Given the description of an element on the screen output the (x, y) to click on. 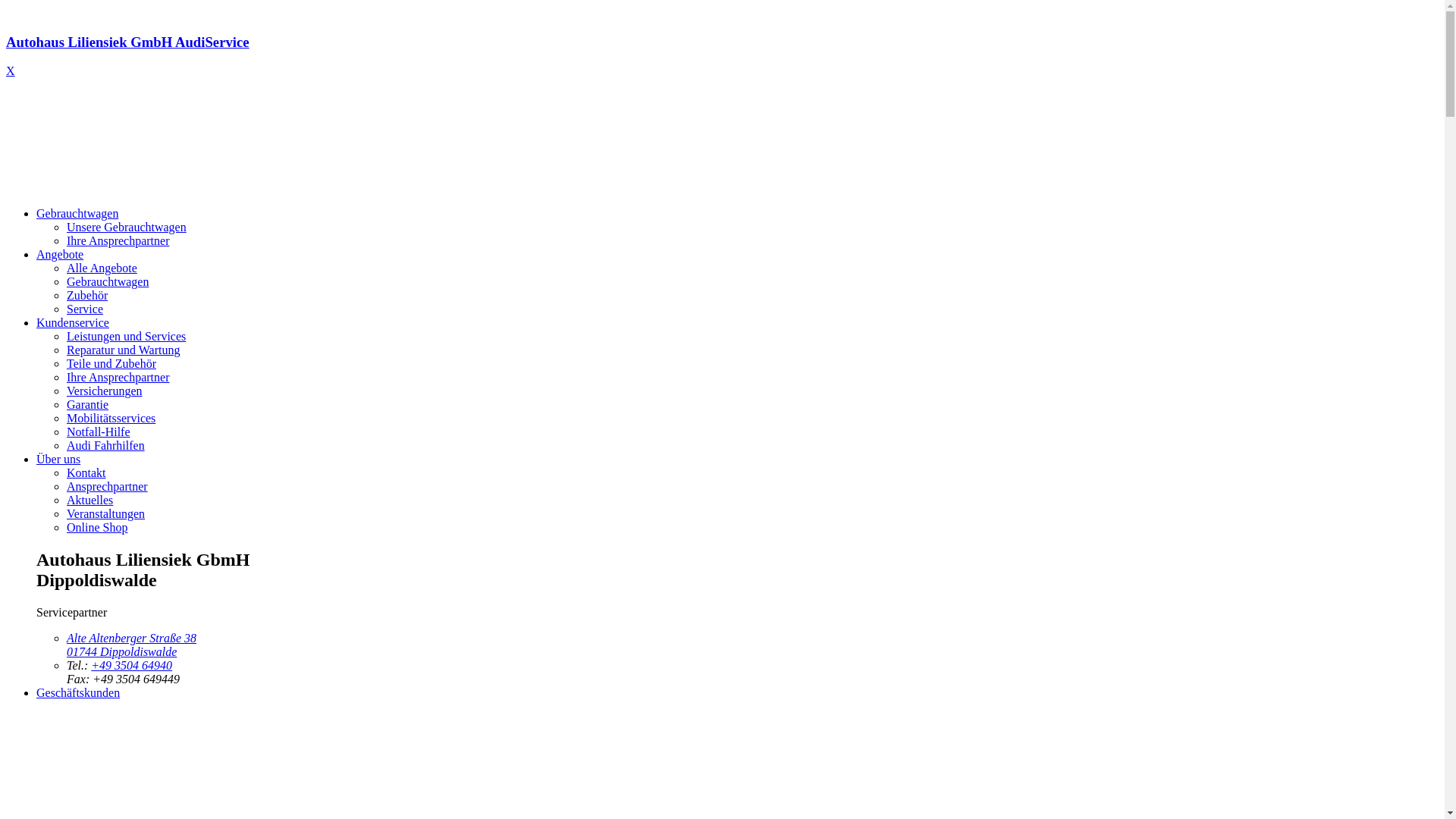
X Element type: text (10, 70)
Alle Angebote Element type: text (101, 267)
Kundenservice Element type: text (72, 322)
Kontakt Element type: text (86, 472)
Leistungen und Services Element type: text (125, 335)
Unsere Gebrauchtwagen Element type: text (126, 226)
Veranstaltungen Element type: text (105, 513)
Versicherungen Element type: text (104, 390)
Online Shop Element type: text (96, 526)
Ansprechpartner Element type: text (106, 486)
Gebrauchtwagen Element type: text (107, 281)
Garantie Element type: text (87, 404)
Gebrauchtwagen Element type: text (77, 213)
+49 3504 64940 Element type: text (131, 664)
Audi Fahrhilfen Element type: text (105, 445)
Notfall-Hilfe Element type: text (98, 431)
Autohaus Liliensiek GmbH AudiService Element type: text (722, 56)
Angebote Element type: text (59, 253)
Reparatur und Wartung Element type: text (122, 349)
Aktuelles Element type: text (89, 499)
Ihre Ansprechpartner Element type: text (117, 240)
Service Element type: text (84, 308)
Ihre Ansprechpartner Element type: text (117, 376)
